Given the description of an element on the screen output the (x, y) to click on. 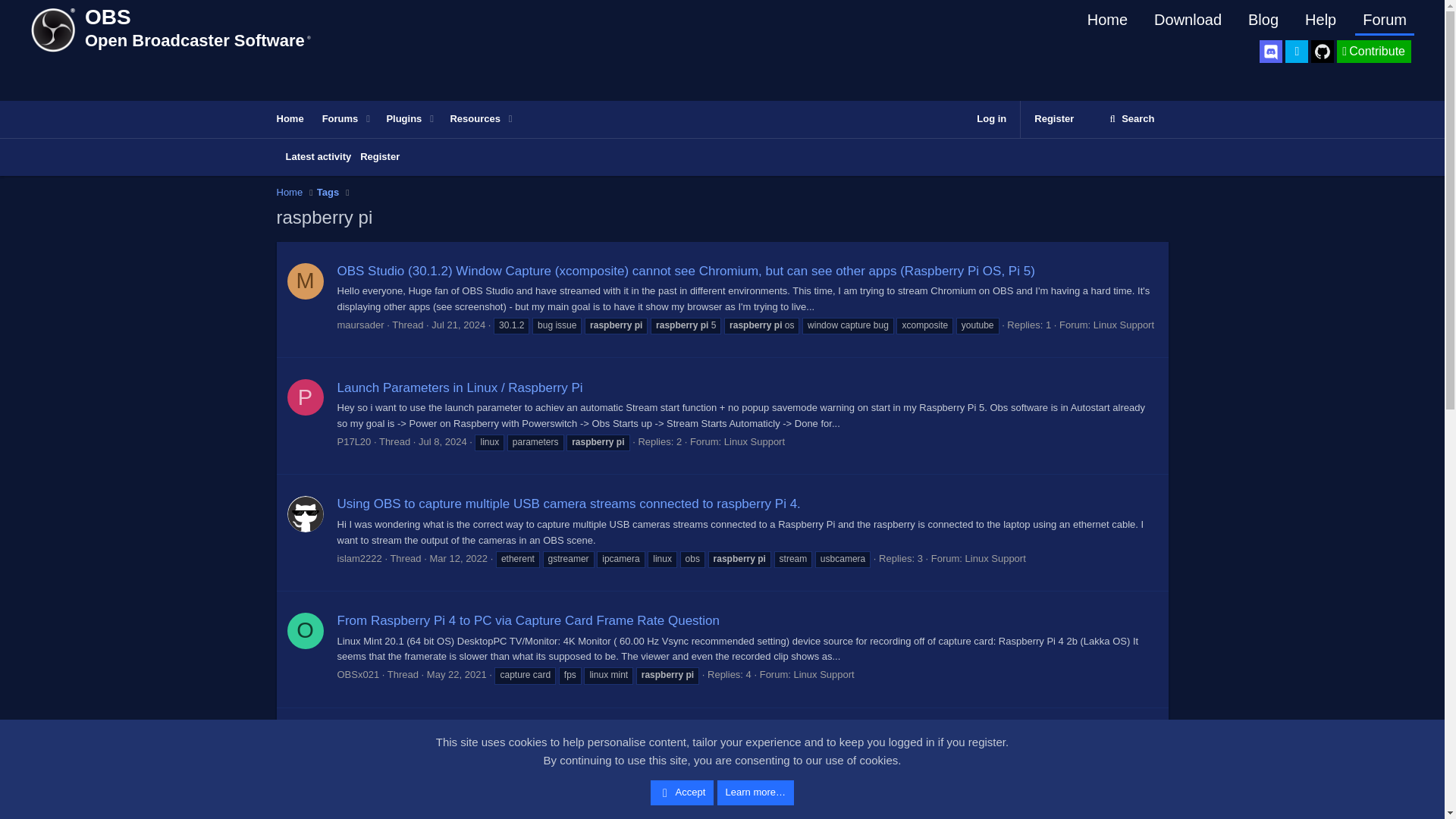
Jul 8, 2024 at 11:49 AM (443, 441)
Search (1131, 119)
Log in (991, 119)
Download (1187, 19)
Forums (336, 119)
Register (379, 157)
Jul 21, 2024 at 3:13 AM (457, 324)
Register (1053, 119)
Tags (721, 173)
Home (328, 192)
Contribute (289, 119)
Home (1373, 51)
Help (289, 192)
M (1320, 19)
